Given the description of an element on the screen output the (x, y) to click on. 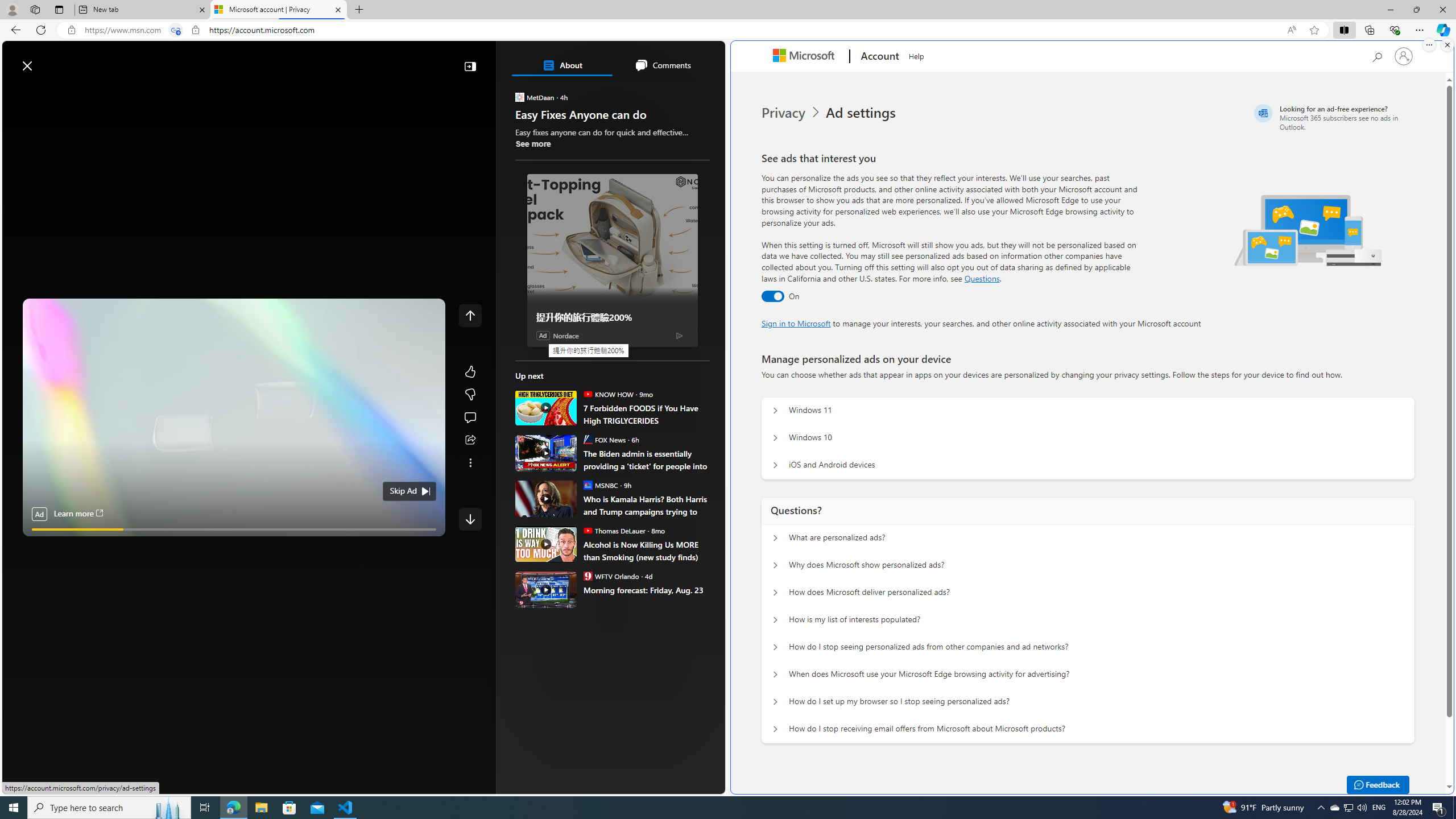
Share this story (469, 440)
Search Microsoft.com (1376, 54)
7 Forbidden FOODS if You Have High TRIGLYCERIDES (545, 407)
Looking for an ad-free experience? (1331, 117)
ABC News (554, 415)
